Given the description of an element on the screen output the (x, y) to click on. 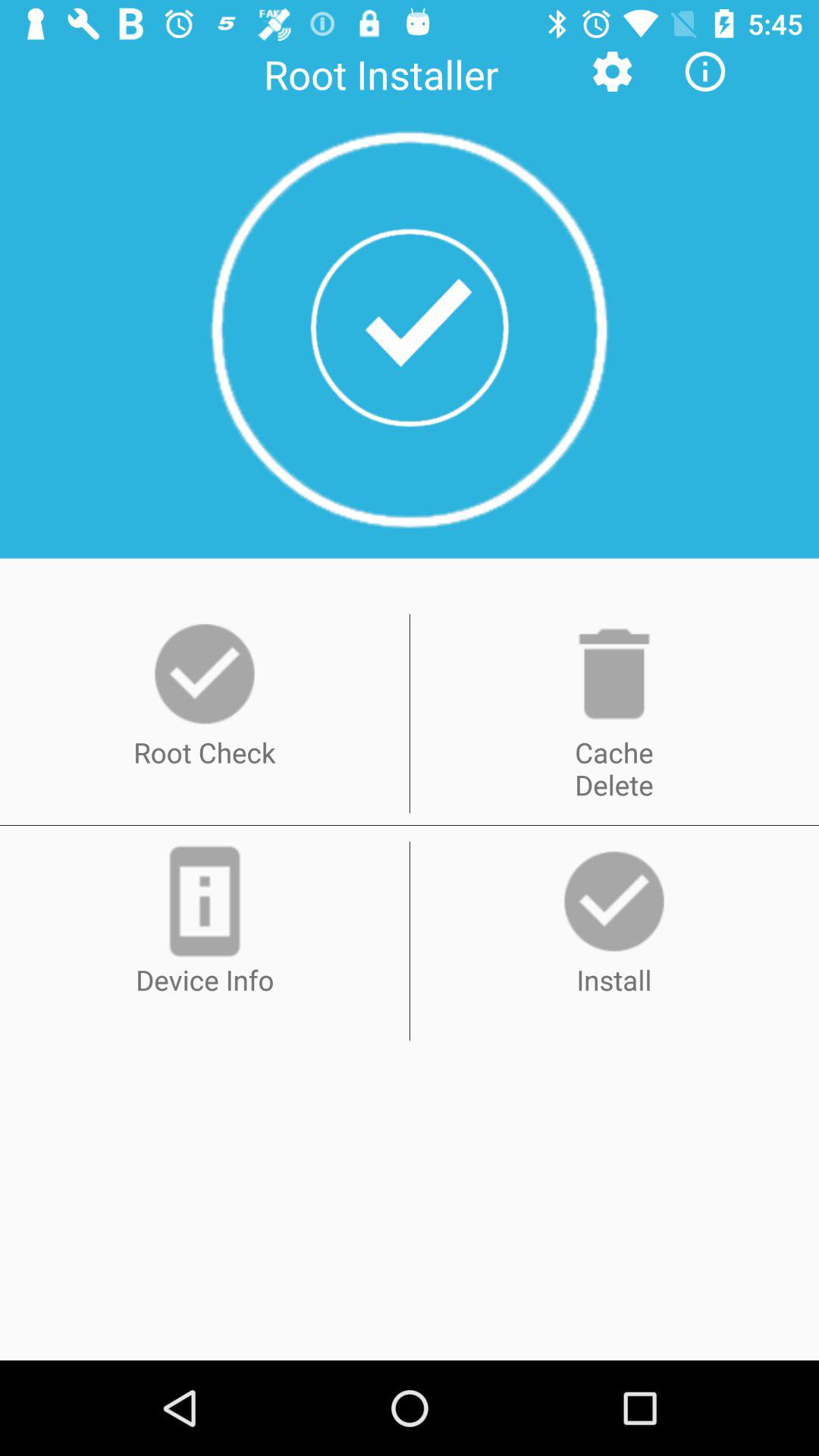
turn on item to the right of the root installer item (612, 71)
